Given the description of an element on the screen output the (x, y) to click on. 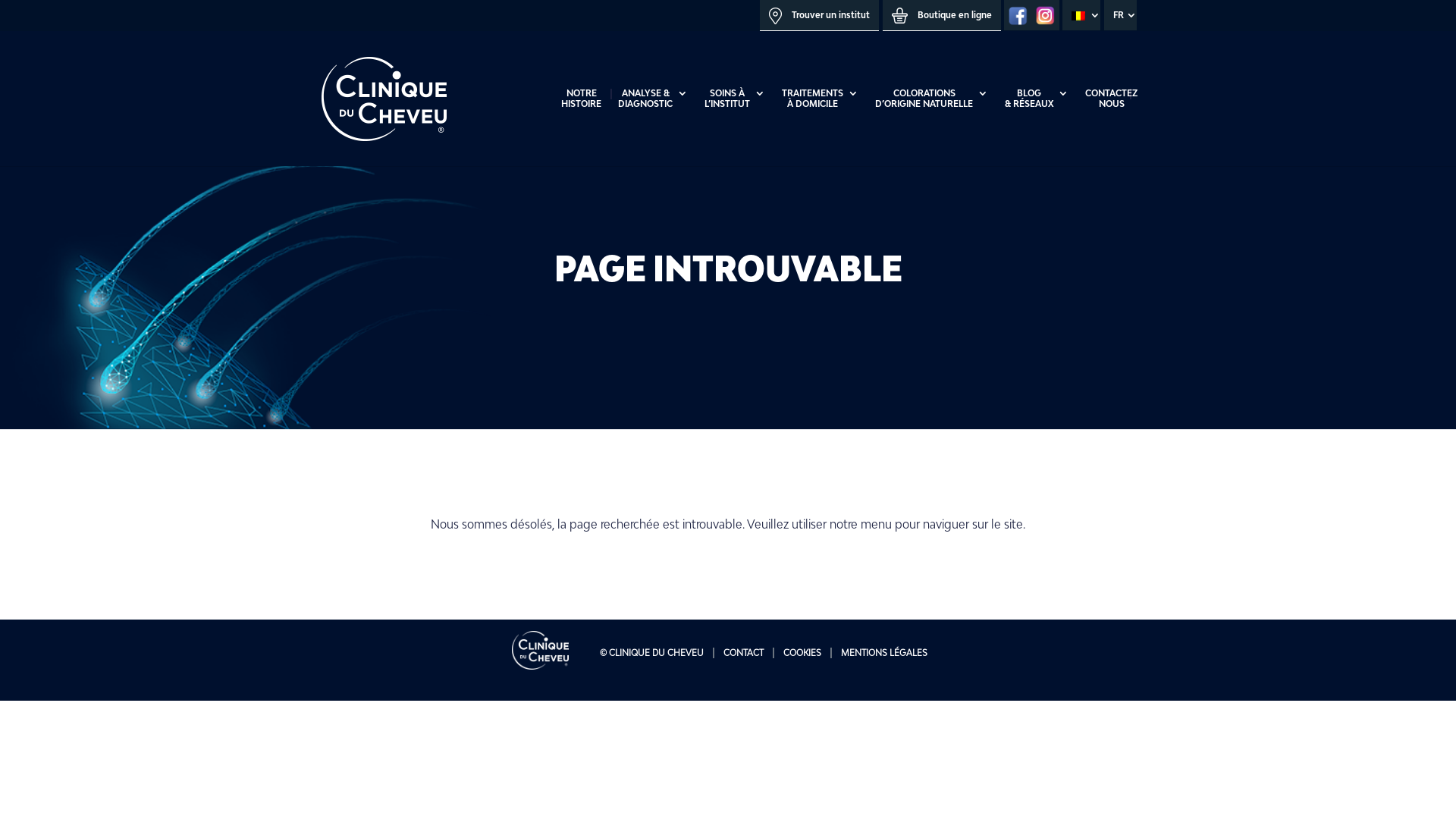
CONTACT Element type: text (743, 652)
NOTRE
HISTOIRE Element type: text (581, 126)
Boutique en ligne Element type: text (941, 15)
FR Element type: text (1120, 15)
ANALYSE &
DIAGNOSTIC Element type: text (652, 126)
COOKIES Element type: text (802, 652)
Trouver un institut Element type: text (818, 15)
CONTACTEZ
NOUS Element type: text (1111, 126)
